Given the description of an element on the screen output the (x, y) to click on. 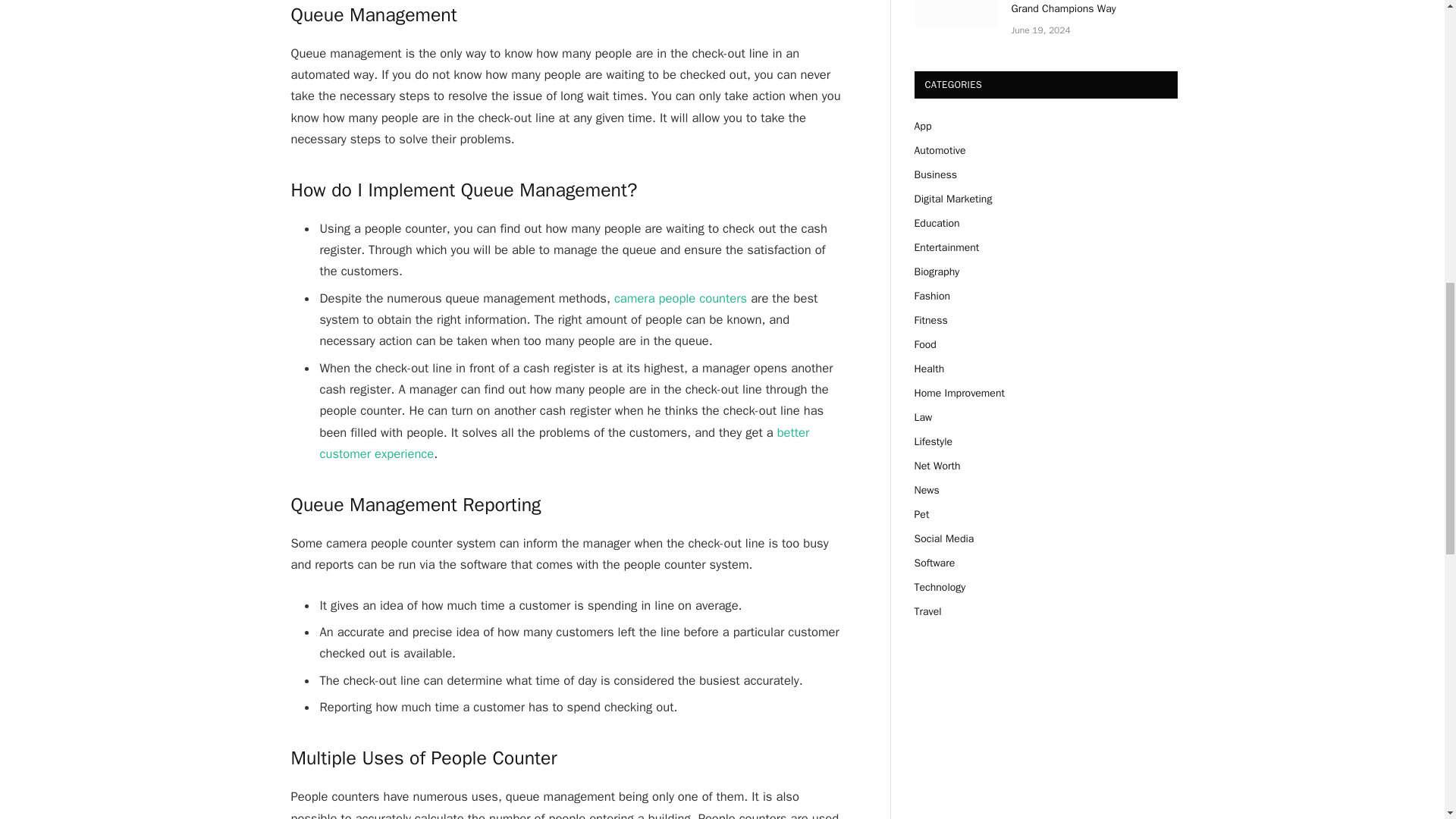
camera people counters (680, 298)
better customer experience (564, 443)
